Given the description of an element on the screen output the (x, y) to click on. 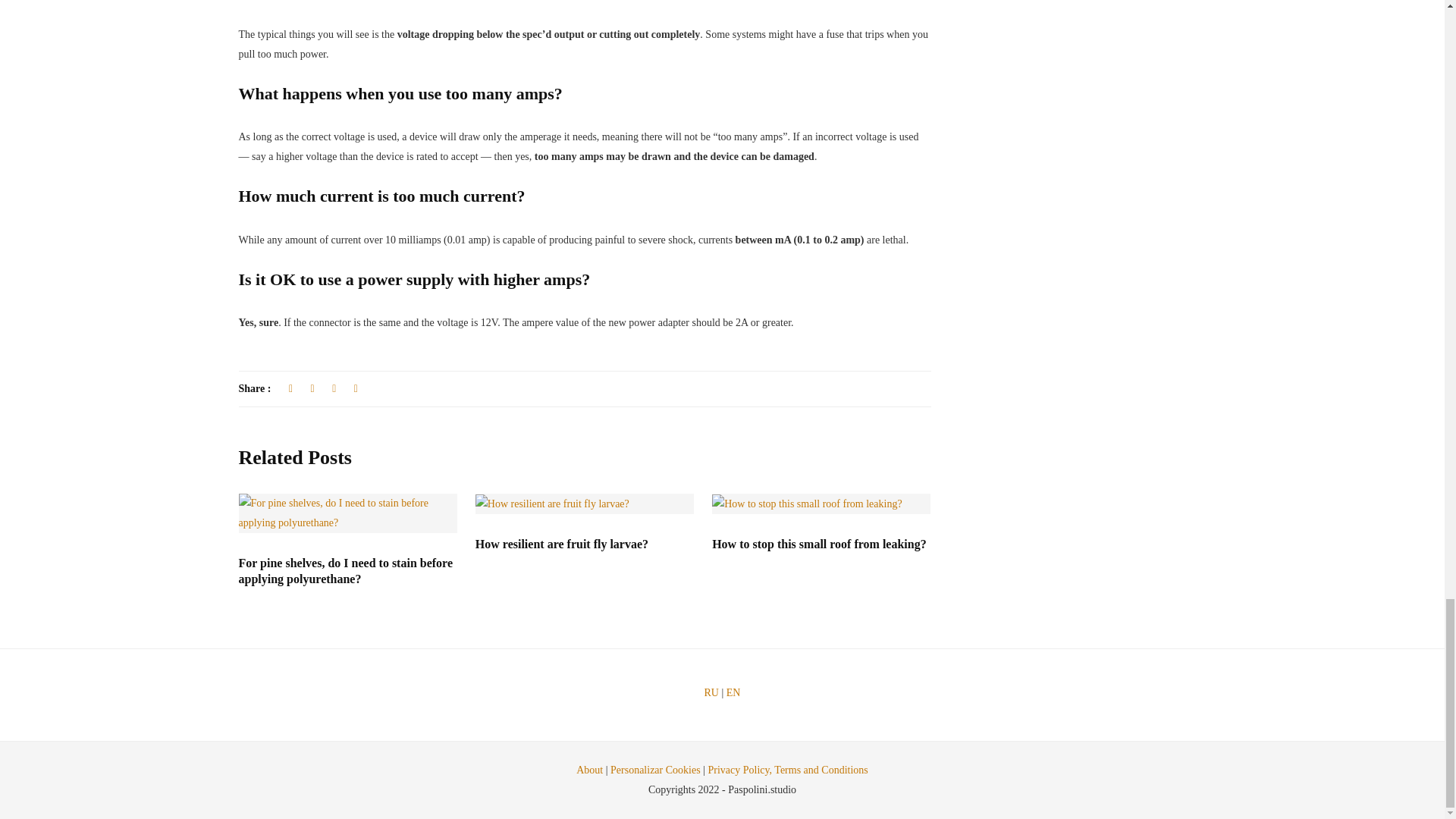
RU (711, 692)
EN (733, 692)
Personalizar Cookies (655, 769)
How resilient are fruit fly larvae? (561, 543)
How to stop this small roof from leaking? (818, 543)
Privacy Policy, Terms and Conditions (787, 769)
About (589, 769)
